Given the description of an element on the screen output the (x, y) to click on. 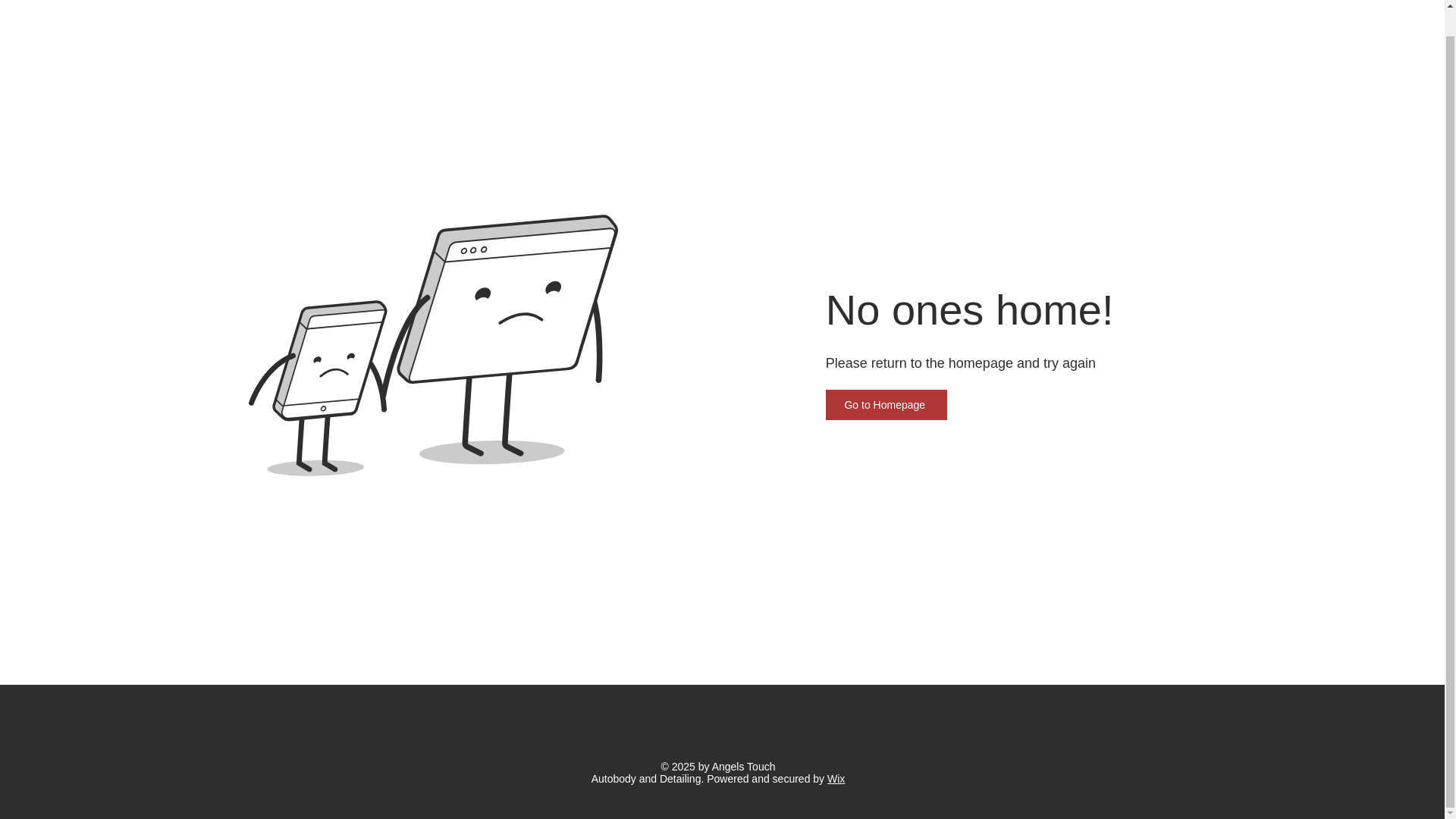
Wix (835, 778)
Go to Homepage (886, 404)
